Given the description of an element on the screen output the (x, y) to click on. 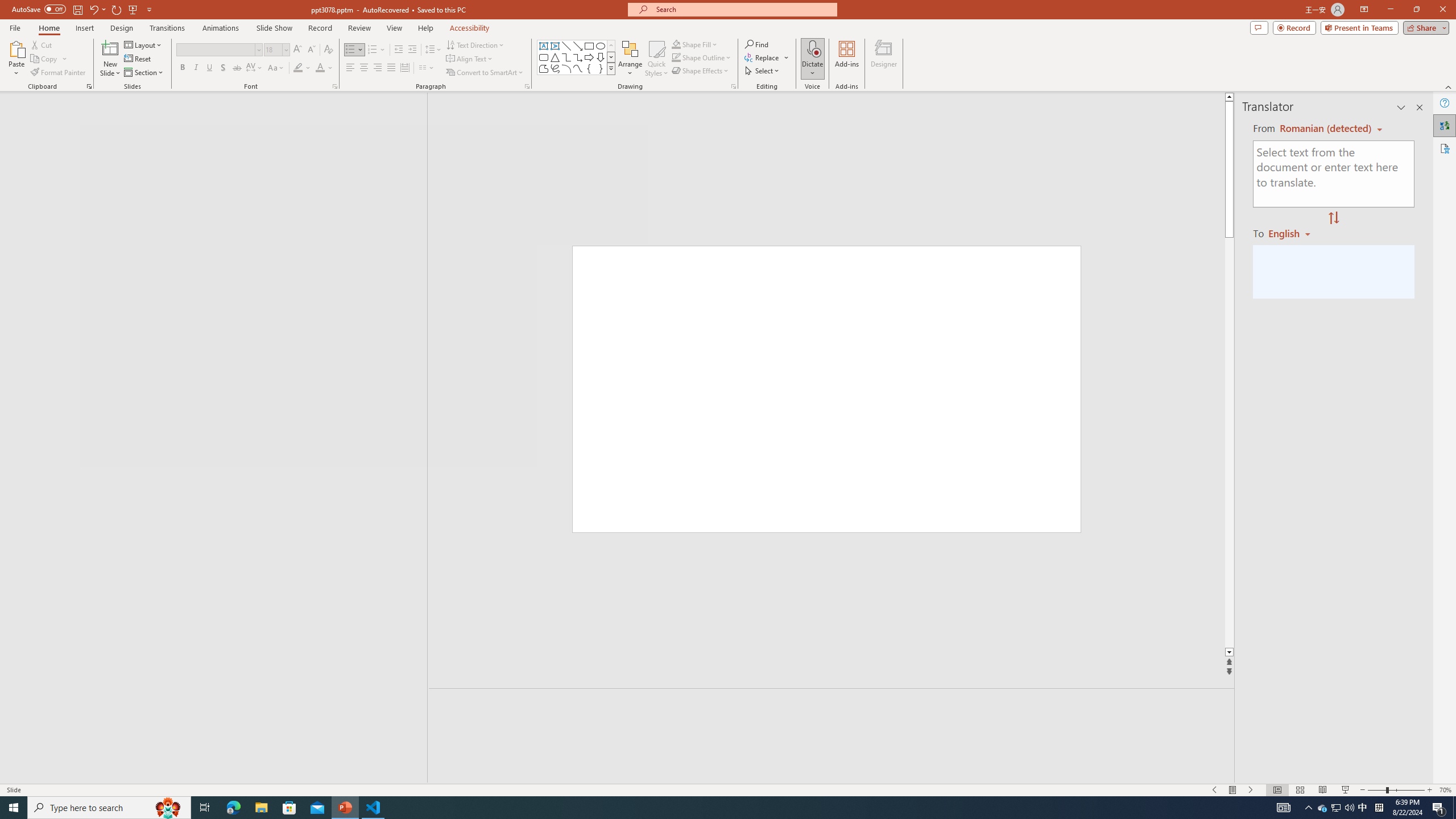
Change Case (276, 67)
Save (77, 9)
Underline (209, 67)
Increase Font Size (297, 49)
Class: MsoCommandBar (728, 789)
Row Down (611, 56)
Font... (334, 85)
Character Spacing (254, 67)
Section (144, 72)
Increase Indent (412, 49)
Zoom In (1430, 790)
Right Brace (600, 68)
Distributed (404, 67)
Freeform: Shape (543, 68)
